Given the description of an element on the screen output the (x, y) to click on. 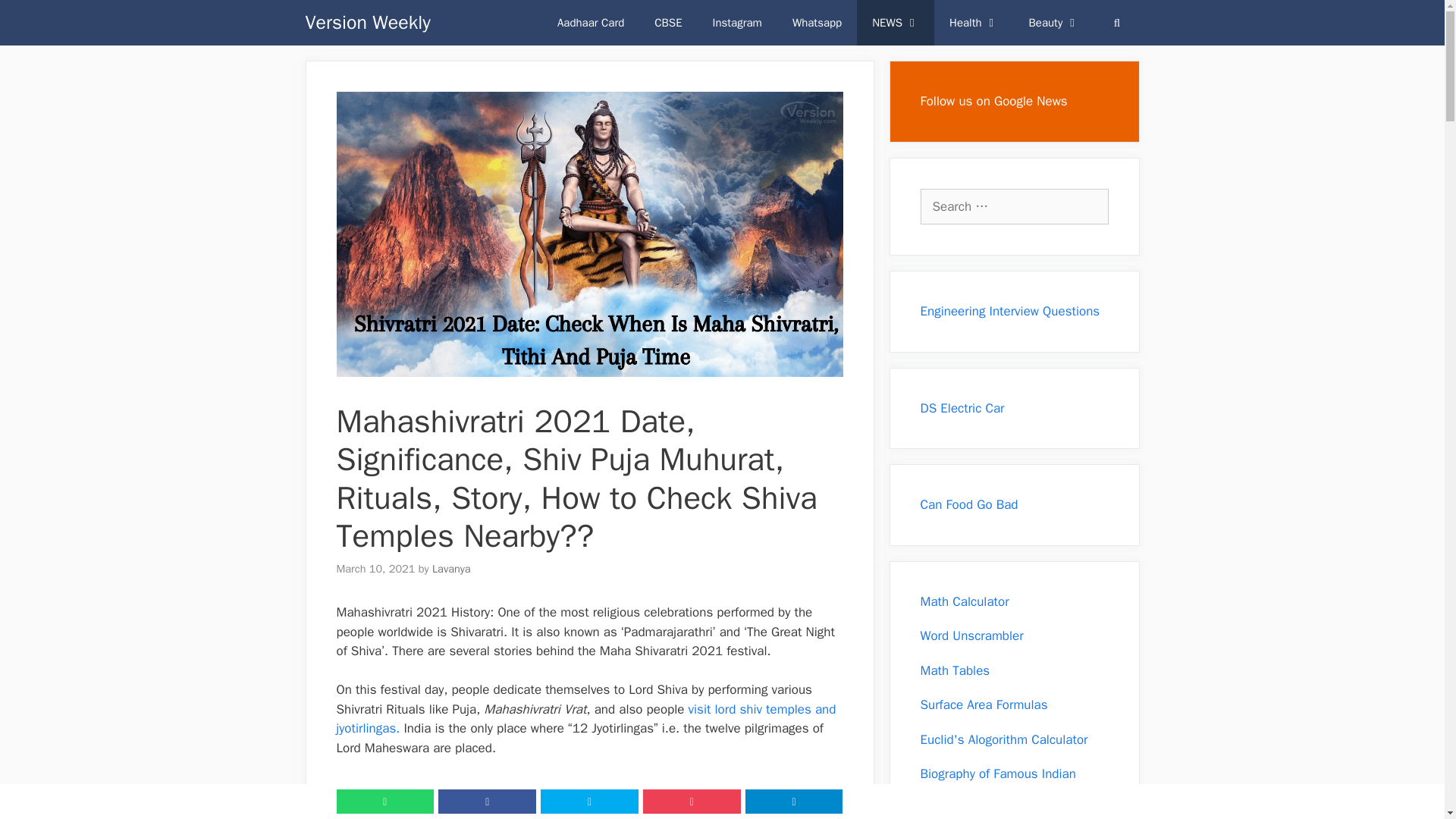
Beauty (1053, 22)
Aadhaar Card (590, 22)
Version Weekly (366, 22)
Health (973, 22)
Search for: (1014, 206)
visit lord shiv temples and jyotirlingas. (585, 719)
Whatsapp (817, 22)
Lavanya (451, 568)
Instagram (737, 22)
NEWS (895, 22)
